Given the description of an element on the screen output the (x, y) to click on. 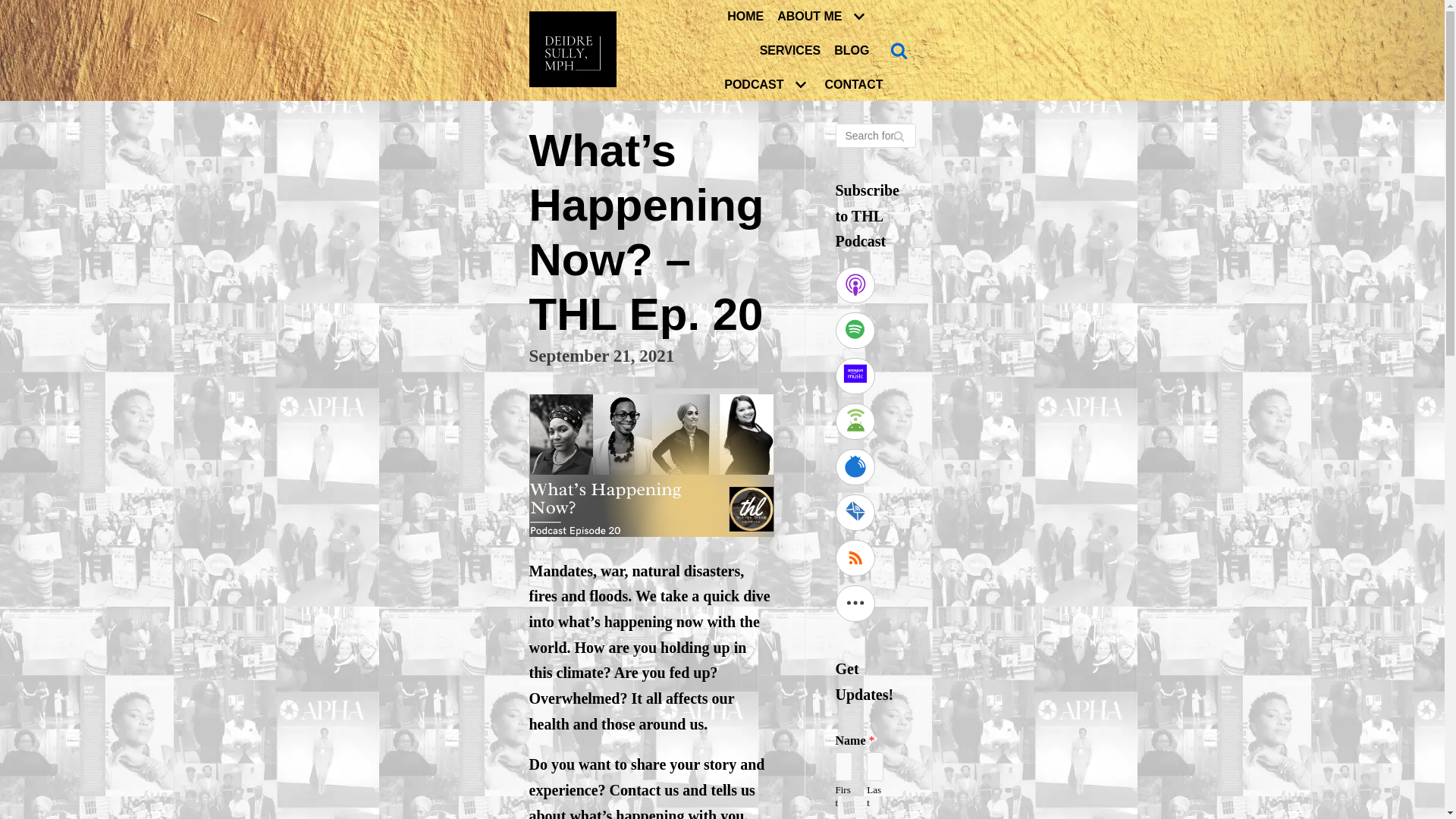
Deidre Sully Public Health Consulting (576, 48)
PODCAST (766, 84)
Skip to content (15, 7)
SERVICES (790, 49)
BLOG (851, 49)
CONTACT (853, 85)
HOME (744, 16)
ABOUT ME (823, 15)
